Given the description of an element on the screen output the (x, y) to click on. 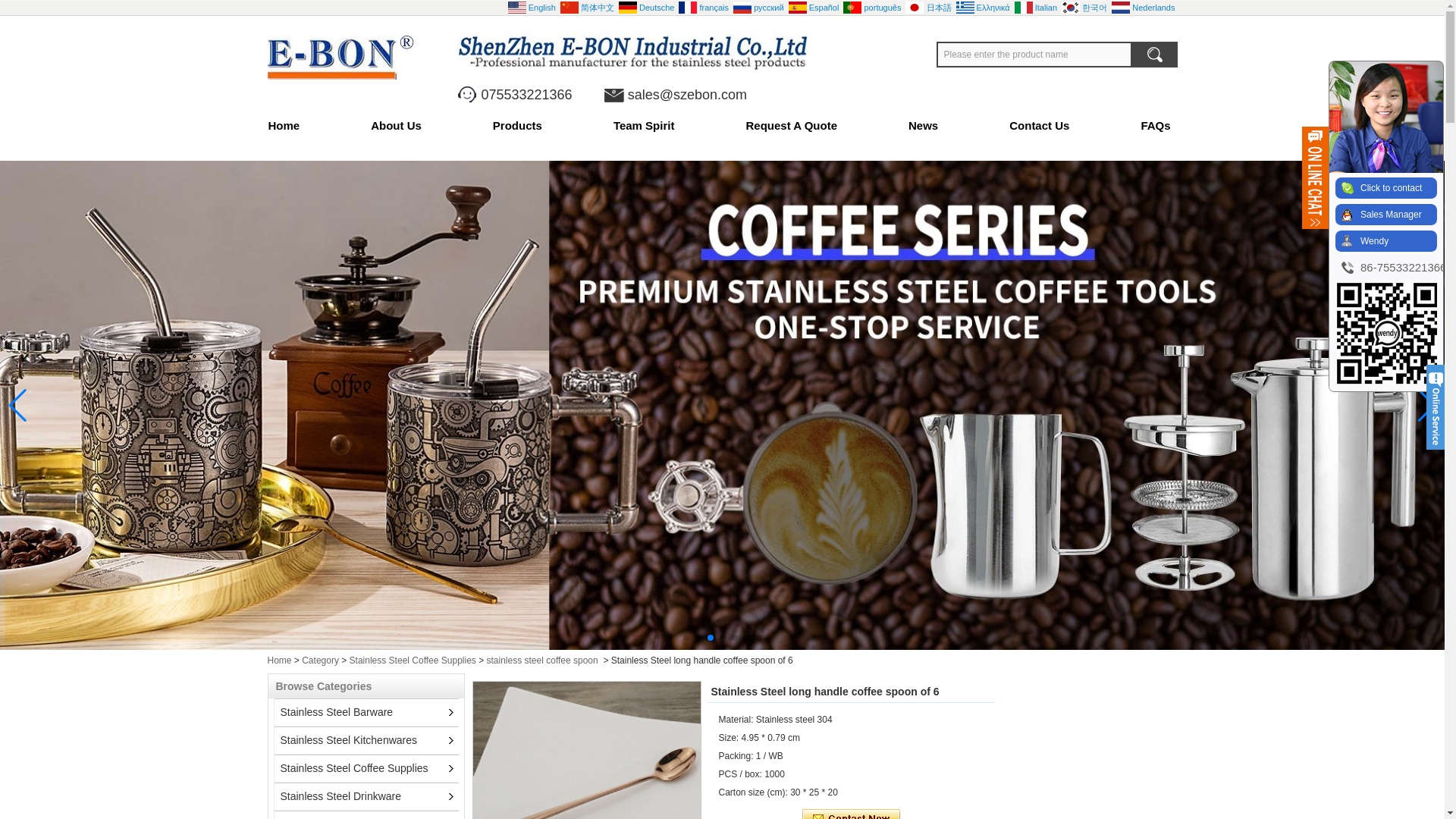
English (532, 6)
Nederlands (1143, 6)
Search (1153, 54)
Stainless Steel Barware (334, 711)
Home (300, 125)
Products (517, 125)
English (532, 6)
Category (320, 660)
Deutsche (646, 6)
Team Spirit (644, 125)
Italian (1035, 6)
Search (1153, 54)
Deutsche (646, 6)
stainless steel coffee spoon (542, 660)
Shenzhen E-Bon Industrial Co., Ltd (348, 57)
